Given the description of an element on the screen output the (x, y) to click on. 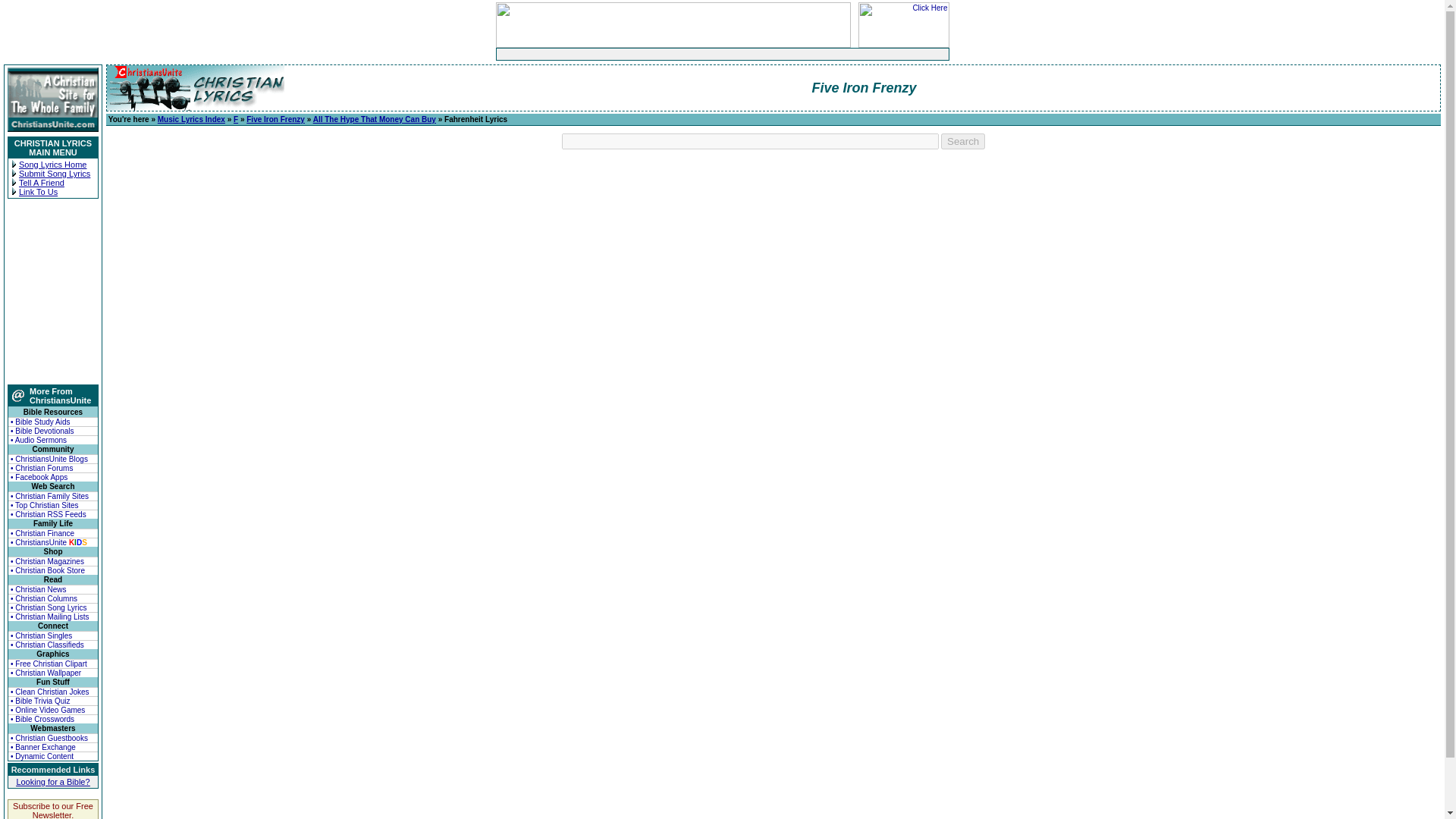
Search (962, 141)
Song Lyrics Home (51, 163)
Looking for a Bible? (52, 781)
Tell A Friend (41, 182)
Link To Us (38, 191)
All The Hype That Money Can Buy (374, 119)
Five Iron Frenzy (275, 119)
Submit Song Lyrics (54, 173)
Music Lyrics Index (191, 119)
